Given the description of an element on the screen output the (x, y) to click on. 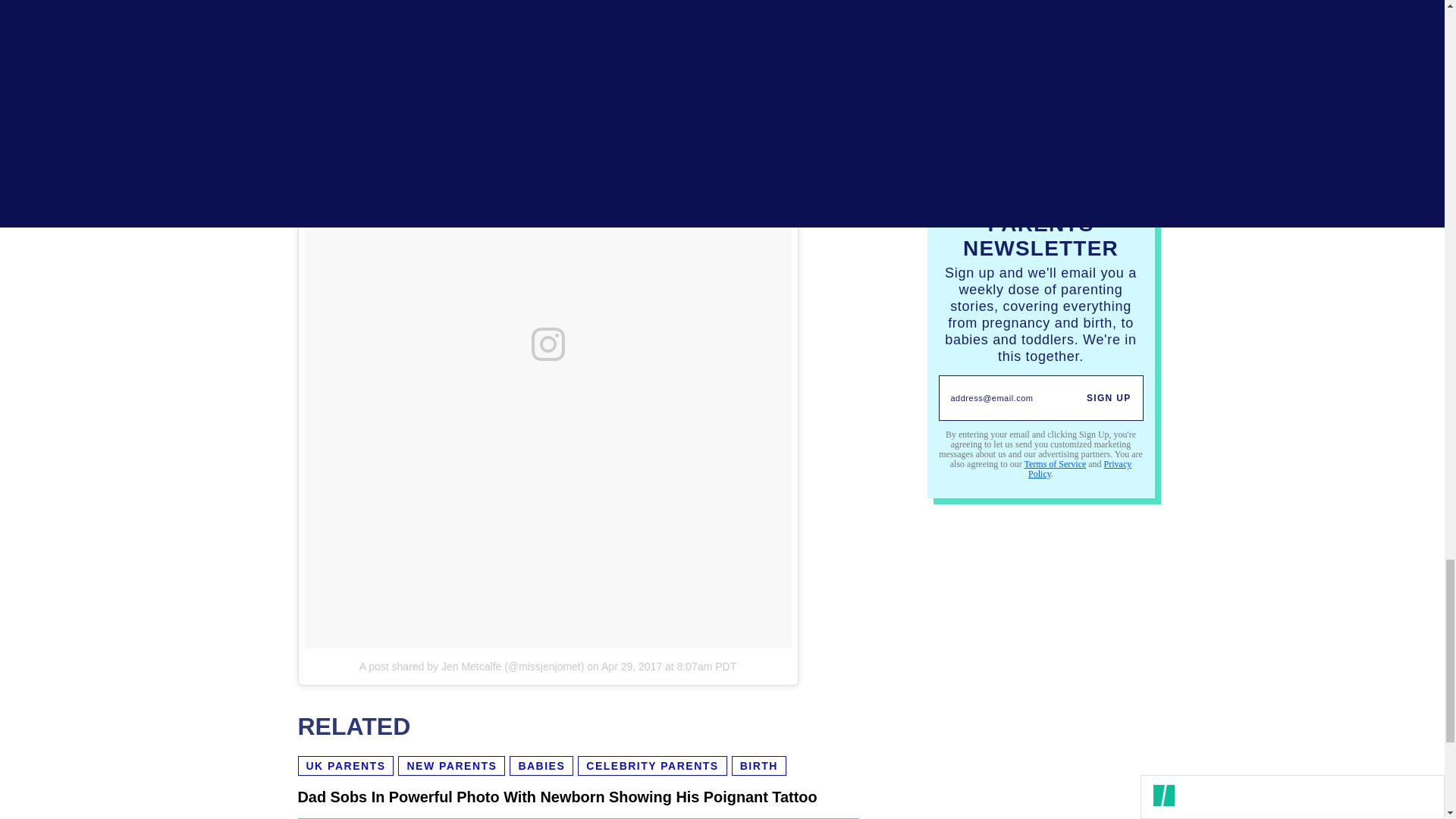
SIGN UP (1108, 397)
